Given the description of an element on the screen output the (x, y) to click on. 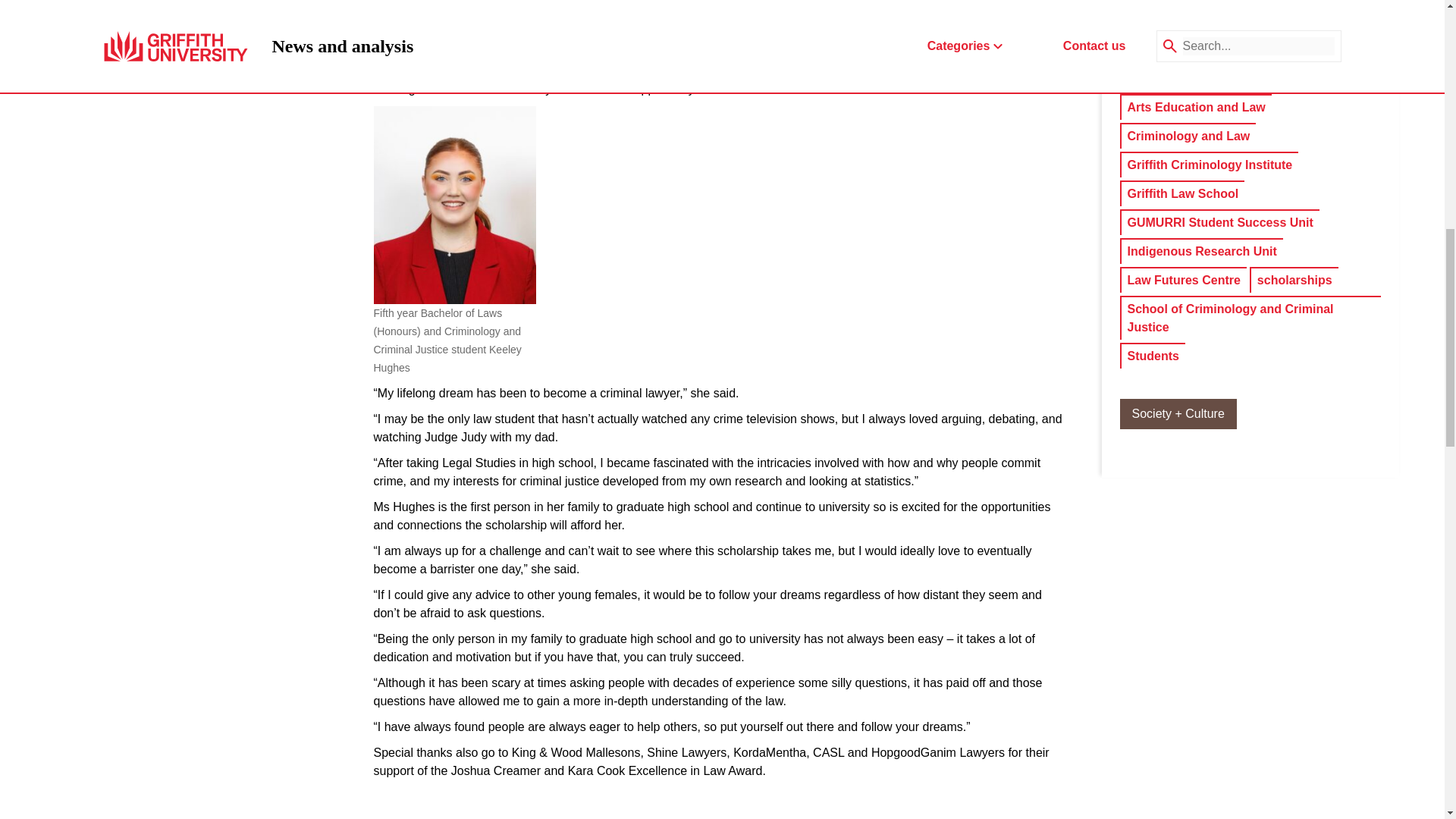
More from Christine (1251, 21)
Griffith Law School (1182, 194)
GUMURRI Student Success Unit (1219, 222)
Arts Education and Law (1195, 107)
Griffith Criminology Institute (1209, 165)
Criminology and Law (1187, 136)
